Given the description of an element on the screen output the (x, y) to click on. 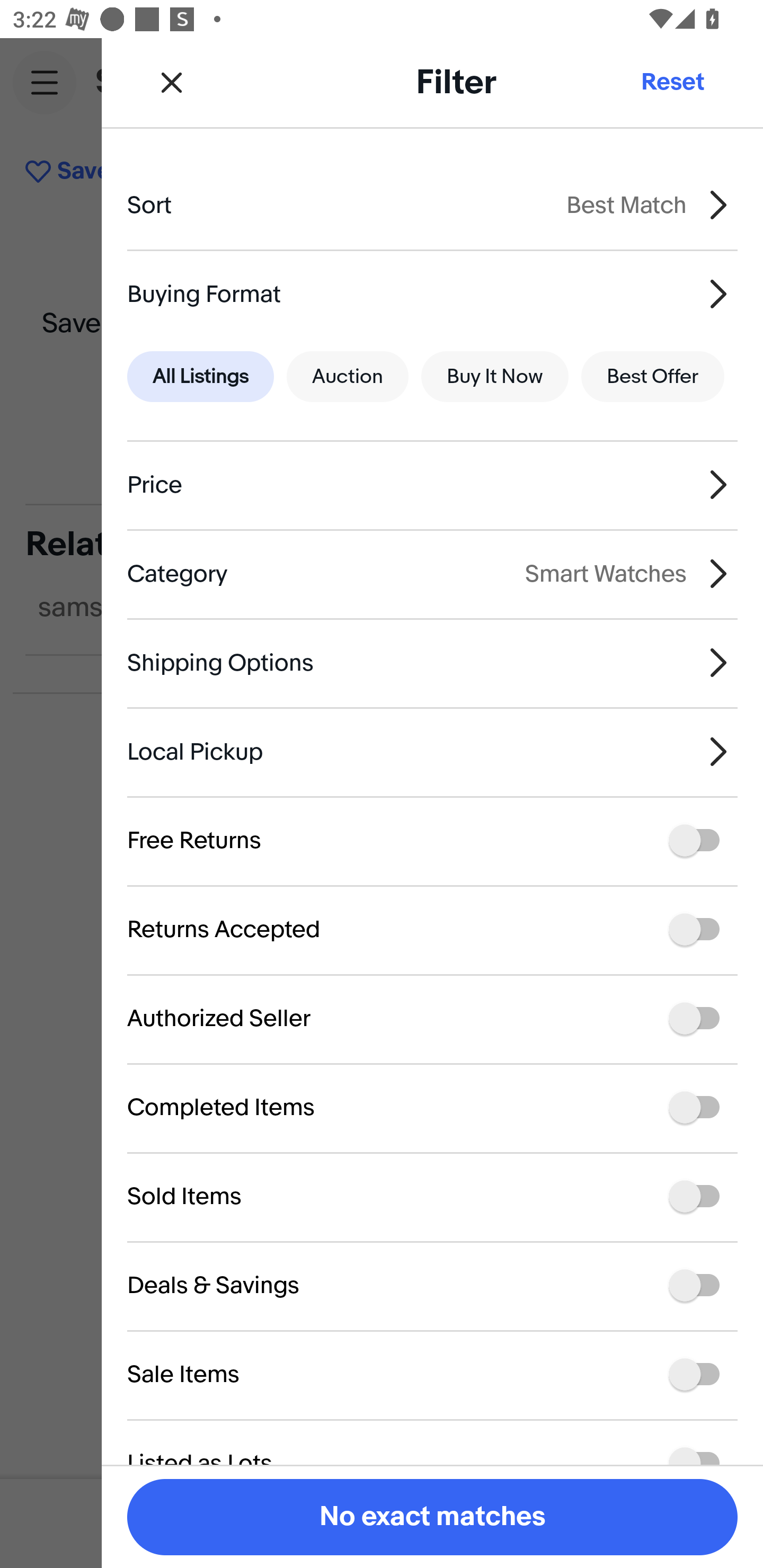
Close Filter (171, 81)
Reset (672, 81)
Buying Format (432, 293)
All Listings (200, 376)
Auction (347, 376)
Buy It Now (494, 376)
Best Offer (652, 376)
Price (432, 484)
Category Smart Watches (432, 573)
Shipping Options (432, 662)
Local Pickup (432, 751)
Free Returns (432, 840)
Returns Accepted (432, 929)
Authorized Seller (432, 1018)
Completed Items (432, 1107)
Sold Items (432, 1196)
Deals & Savings (432, 1285)
Sale Items (432, 1374)
No exact matches (432, 1516)
